Given the description of an element on the screen output the (x, y) to click on. 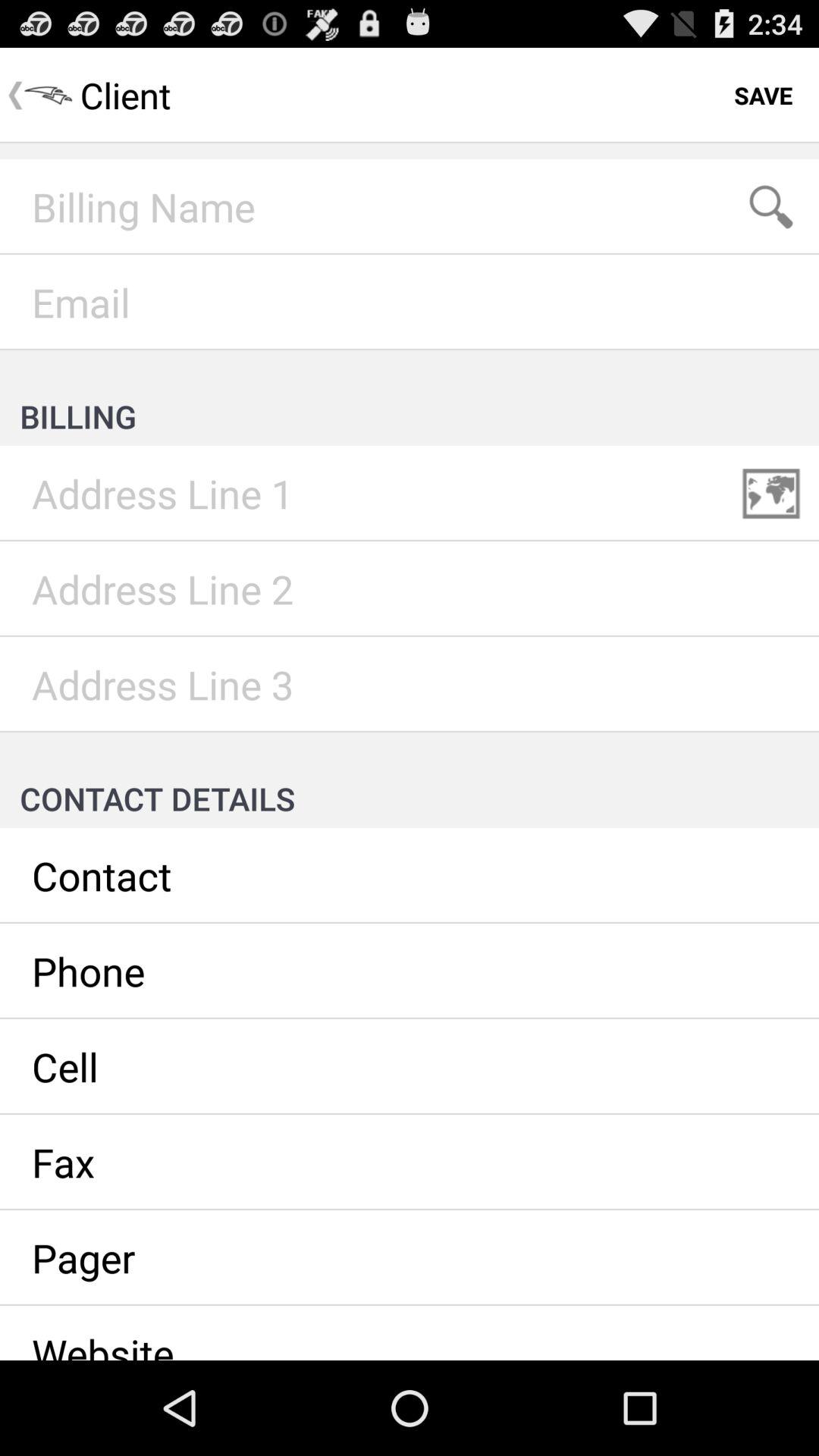
select website (409, 1332)
